Given the description of an element on the screen output the (x, y) to click on. 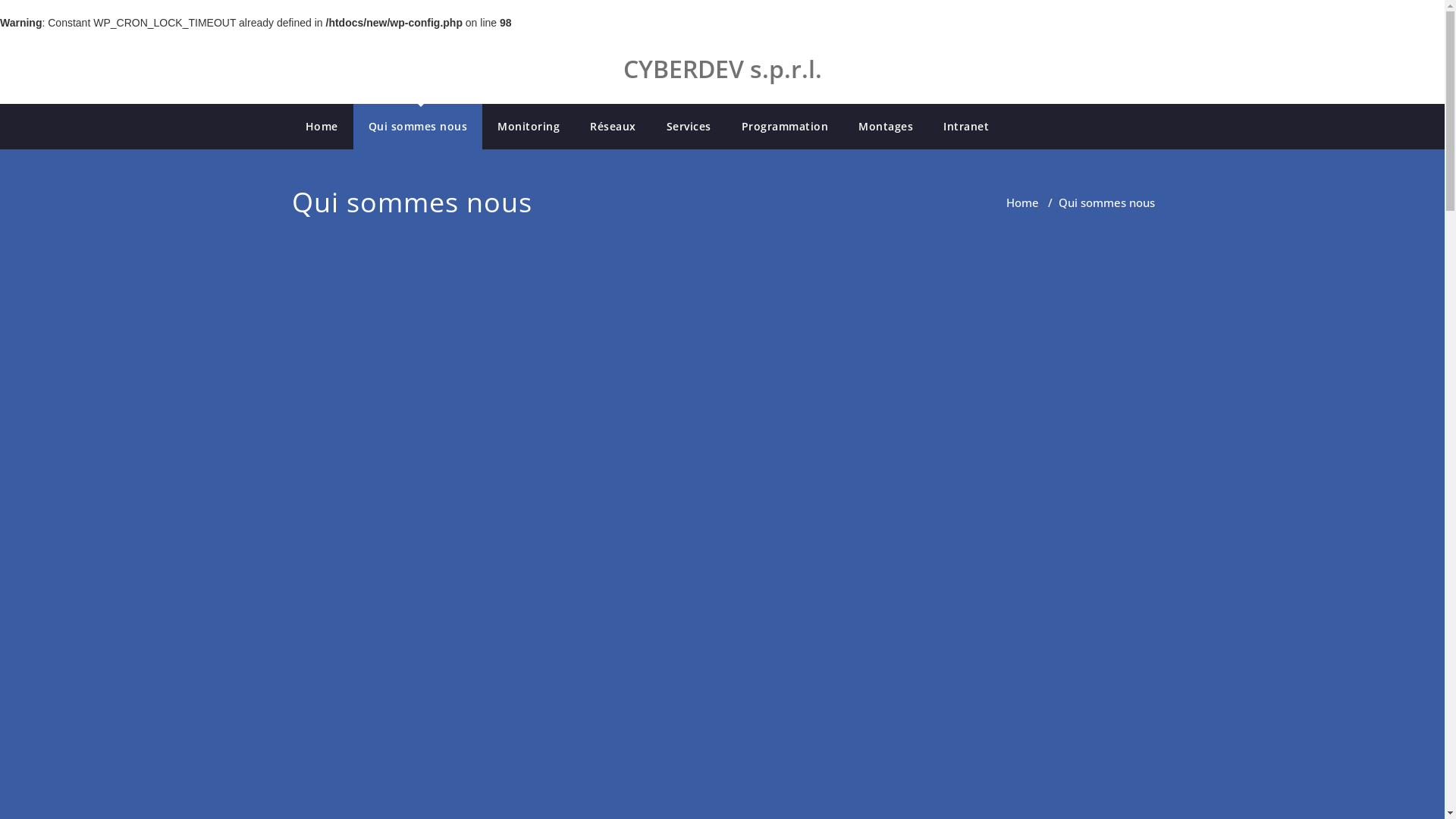
Programmation Element type: text (785, 126)
Intranet Element type: text (966, 126)
Services Element type: text (687, 126)
Montages Element type: text (885, 126)
Home Element type: text (320, 126)
Monitoring Element type: text (528, 126)
CYBERDEV s.p.r.l. Element type: text (722, 66)
Qui sommes nous Element type: text (418, 126)
Home Element type: text (1021, 202)
